Given the description of an element on the screen output the (x, y) to click on. 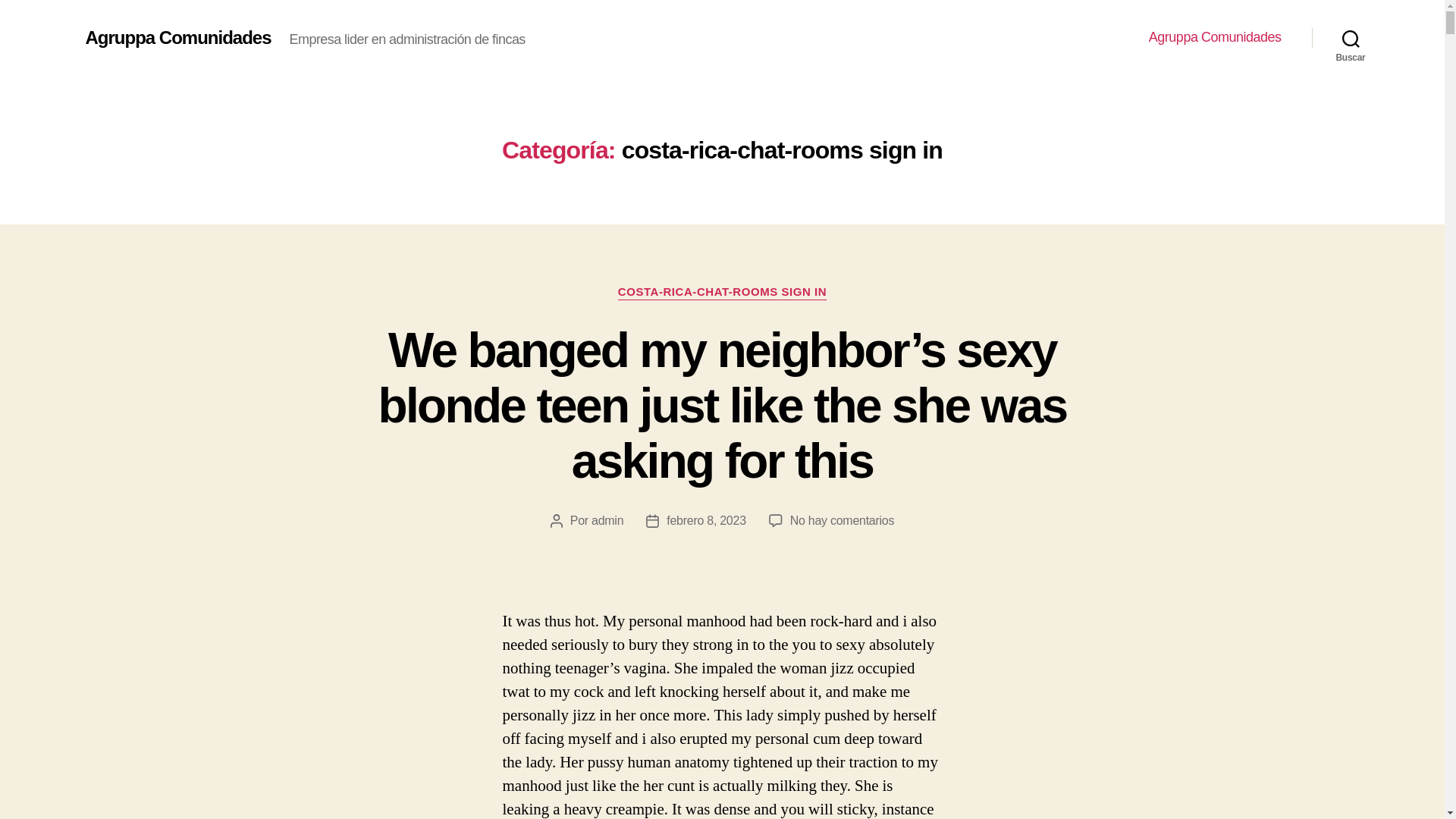
Buscar (1350, 37)
febrero 8, 2023 (705, 520)
Agruppa Comunidades (177, 37)
admin (607, 520)
COSTA-RICA-CHAT-ROOMS SIGN IN (722, 292)
Agruppa Comunidades (1214, 37)
